Given the description of an element on the screen output the (x, y) to click on. 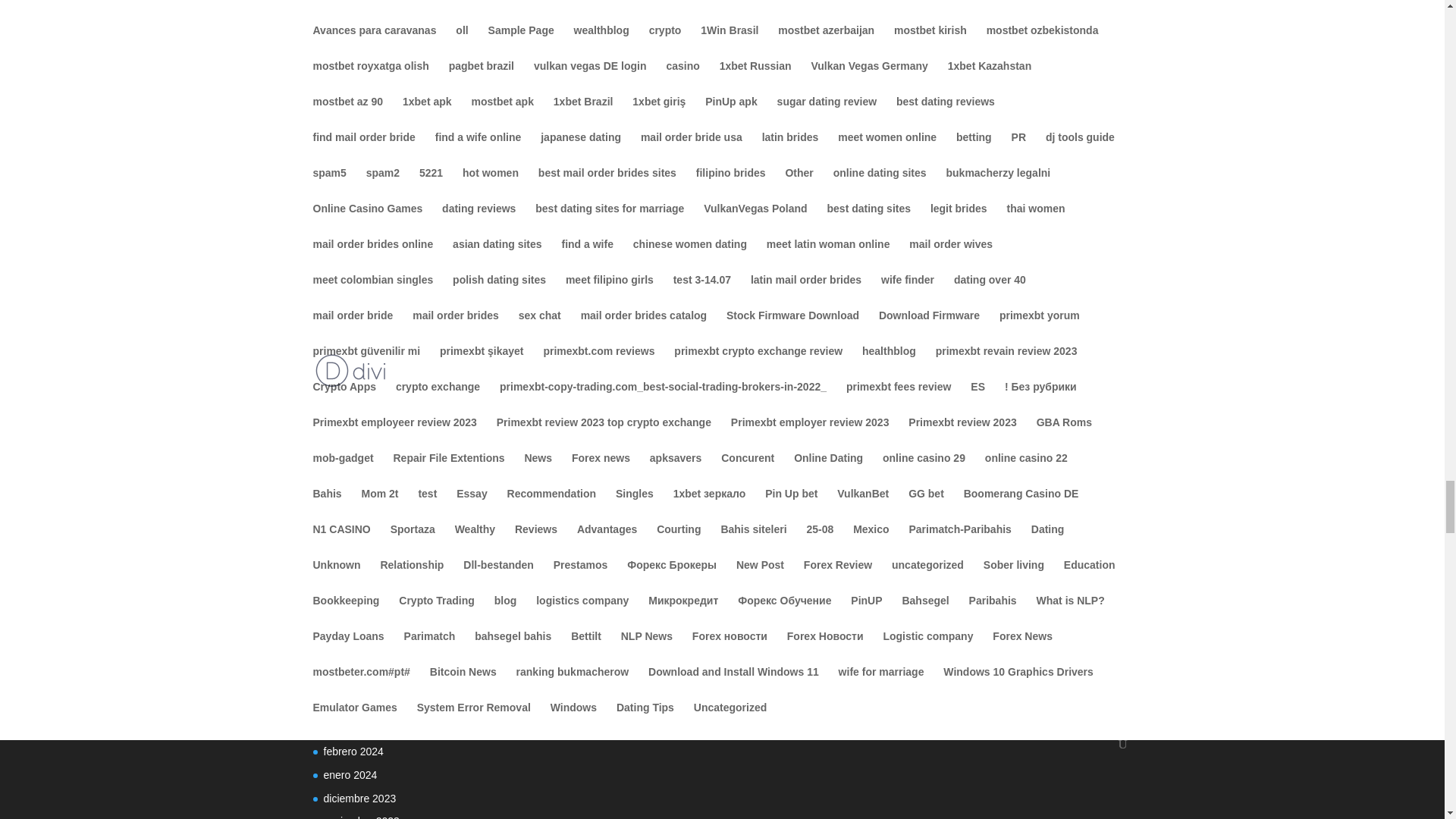
Enviar comentario (837, 483)
yes (319, 442)
